Given the description of an element on the screen output the (x, y) to click on. 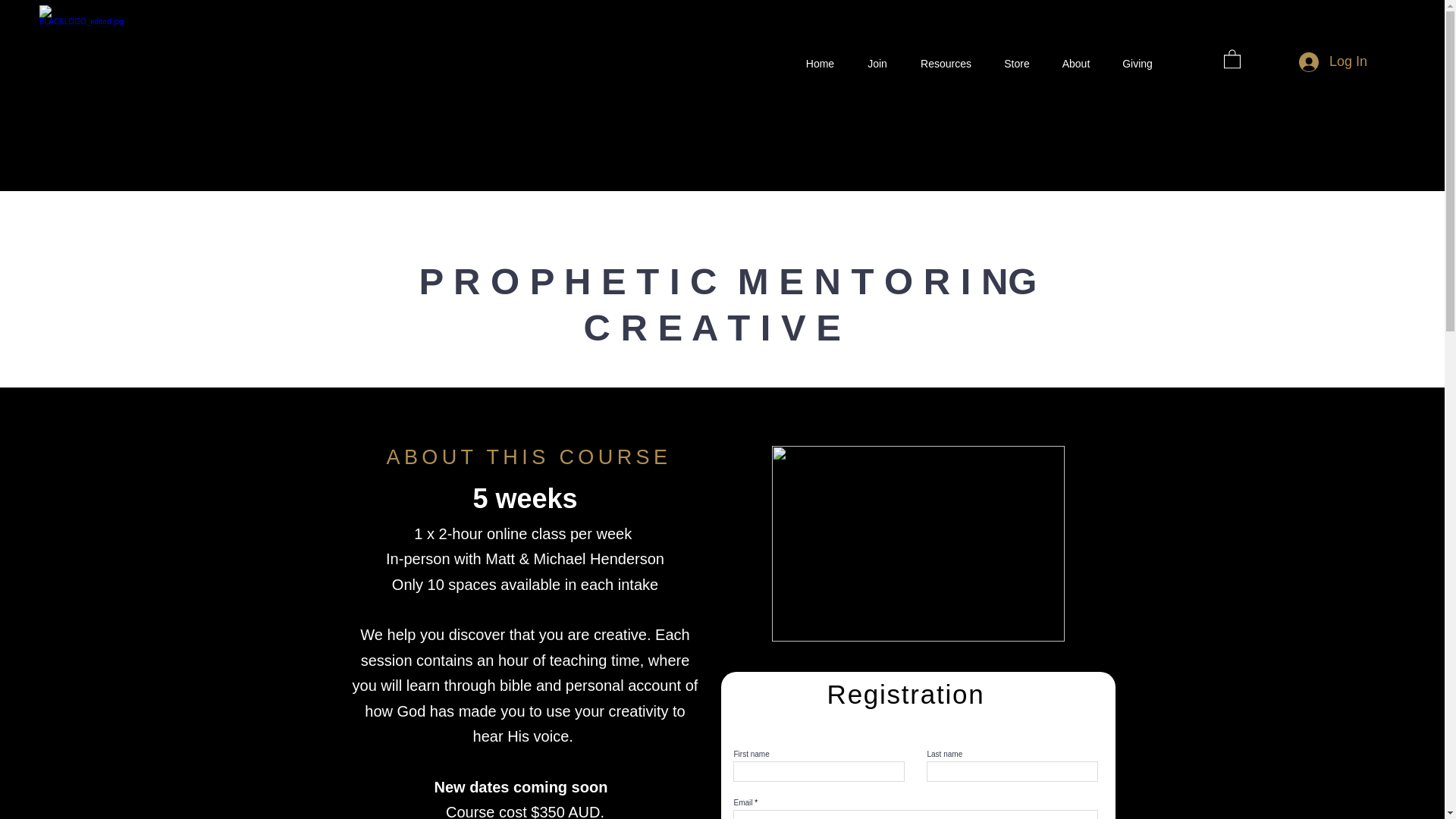
Store (1016, 63)
Log In (1332, 61)
Join (877, 63)
About (1075, 63)
Greater Things International (86, 52)
Home (819, 63)
Giving (1137, 63)
